Given the description of an element on the screen output the (x, y) to click on. 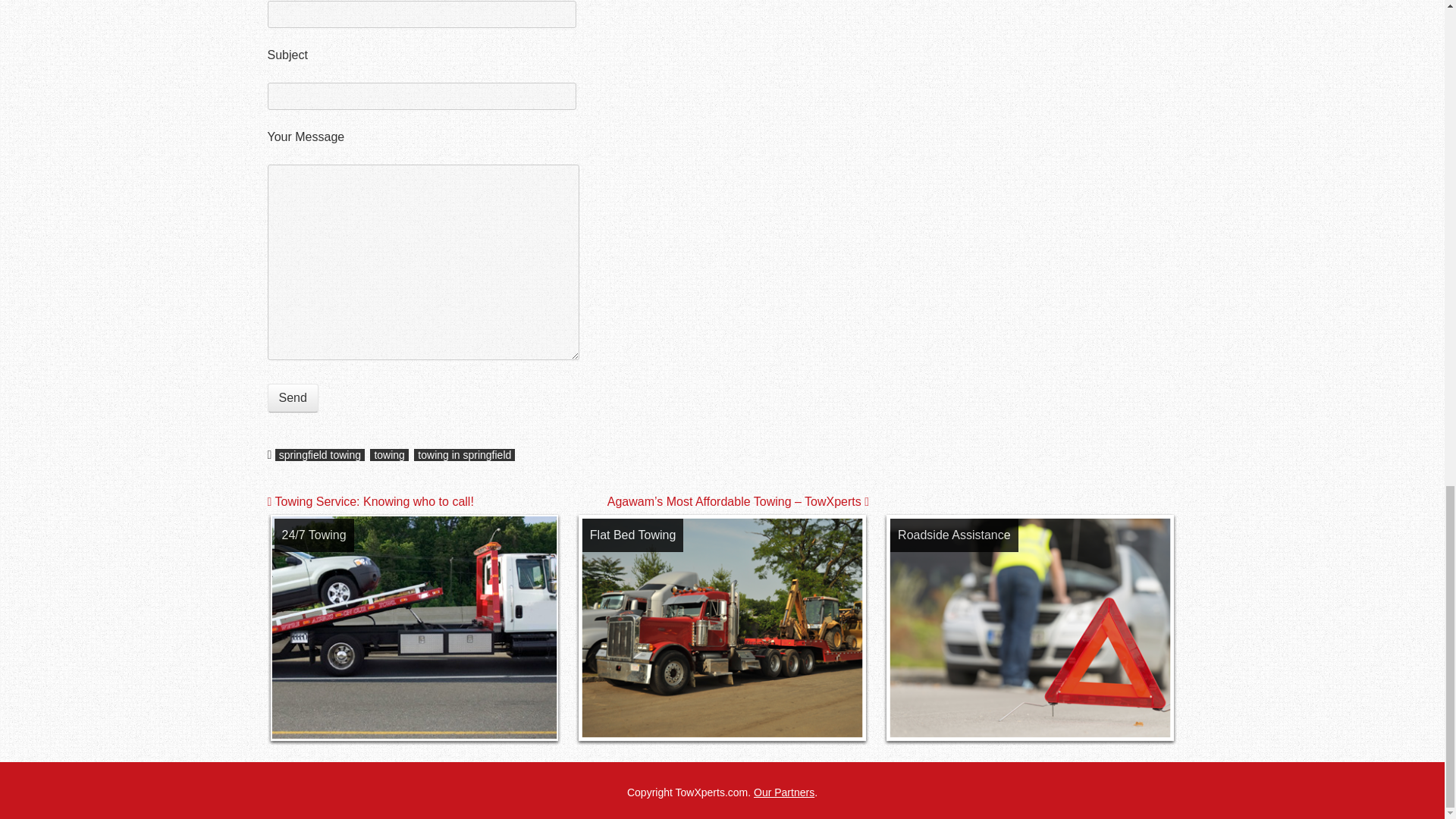
towing (388, 454)
Flat Bed Towing (633, 534)
Send (291, 398)
Roadside Assistance (954, 534)
Our Partners (783, 792)
towing in springfield (464, 454)
Towing Service: Knowing who to call! (369, 501)
springfield towing (320, 454)
Send (291, 398)
